Given the description of an element on the screen output the (x, y) to click on. 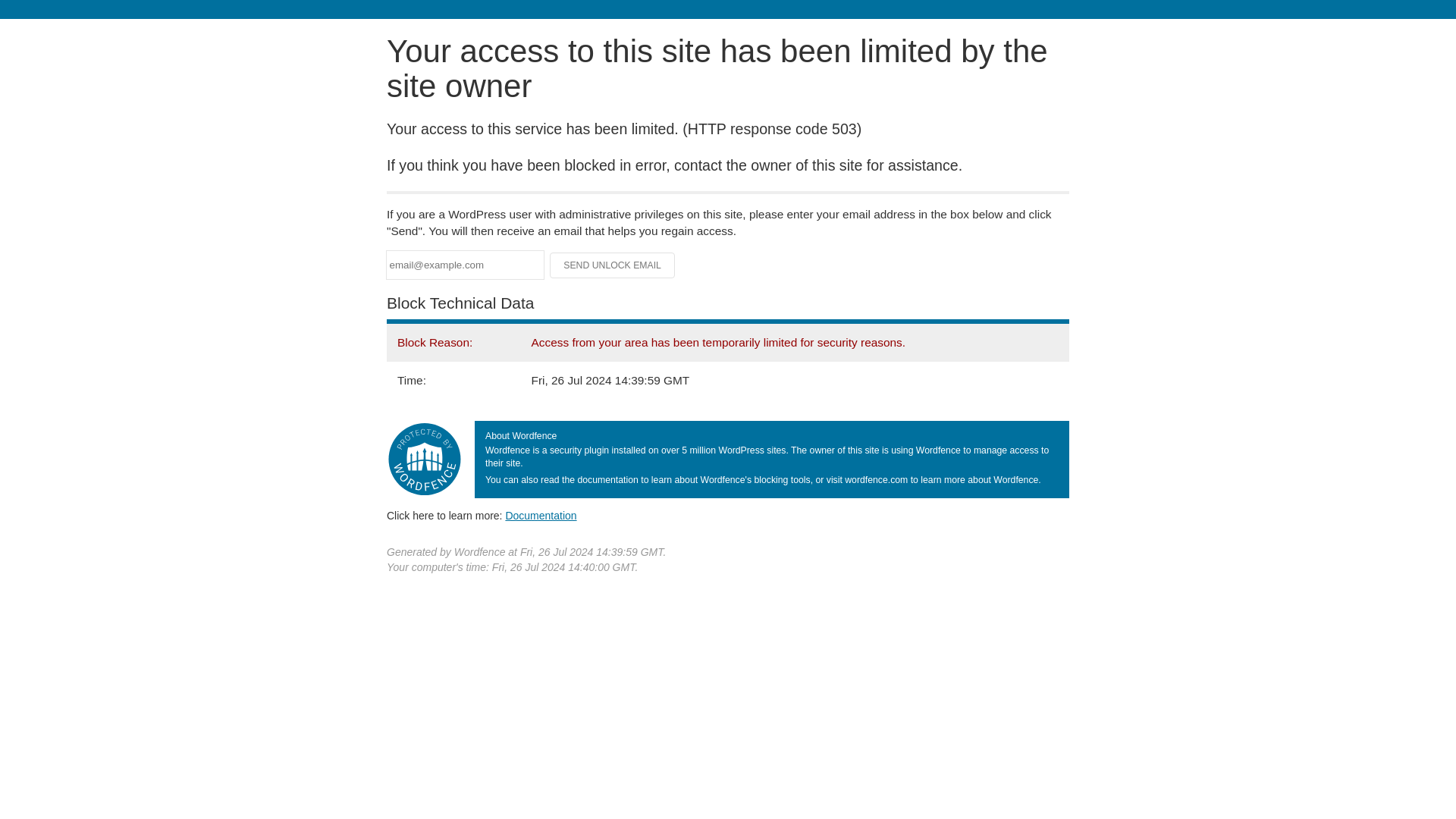
Send Unlock Email (612, 265)
Documentation (540, 515)
Send Unlock Email (612, 265)
